Given the description of an element on the screen output the (x, y) to click on. 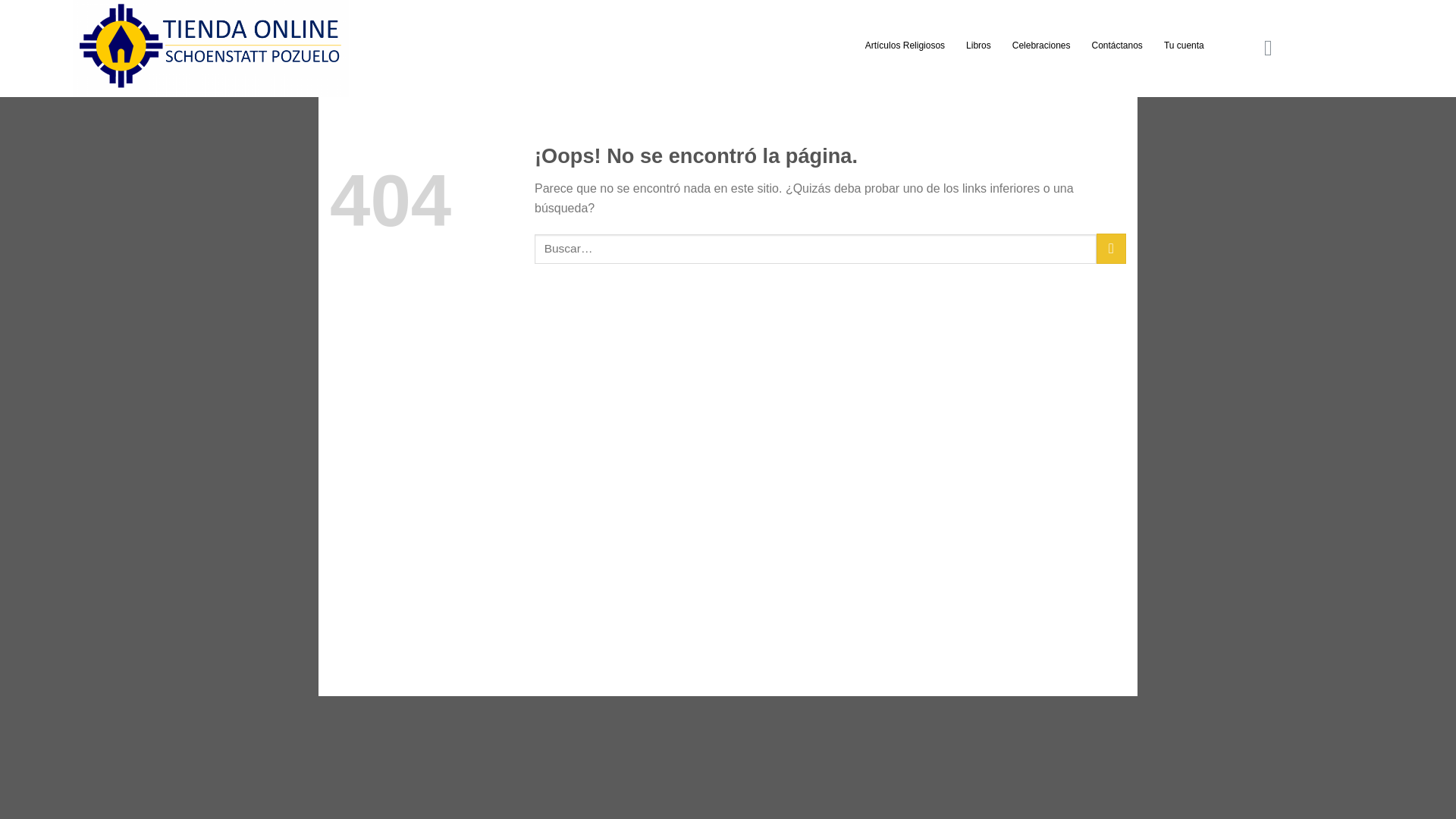
Libros (978, 45)
Celebraciones (1041, 45)
Tu cuenta (1183, 45)
